Given the description of an element on the screen output the (x, y) to click on. 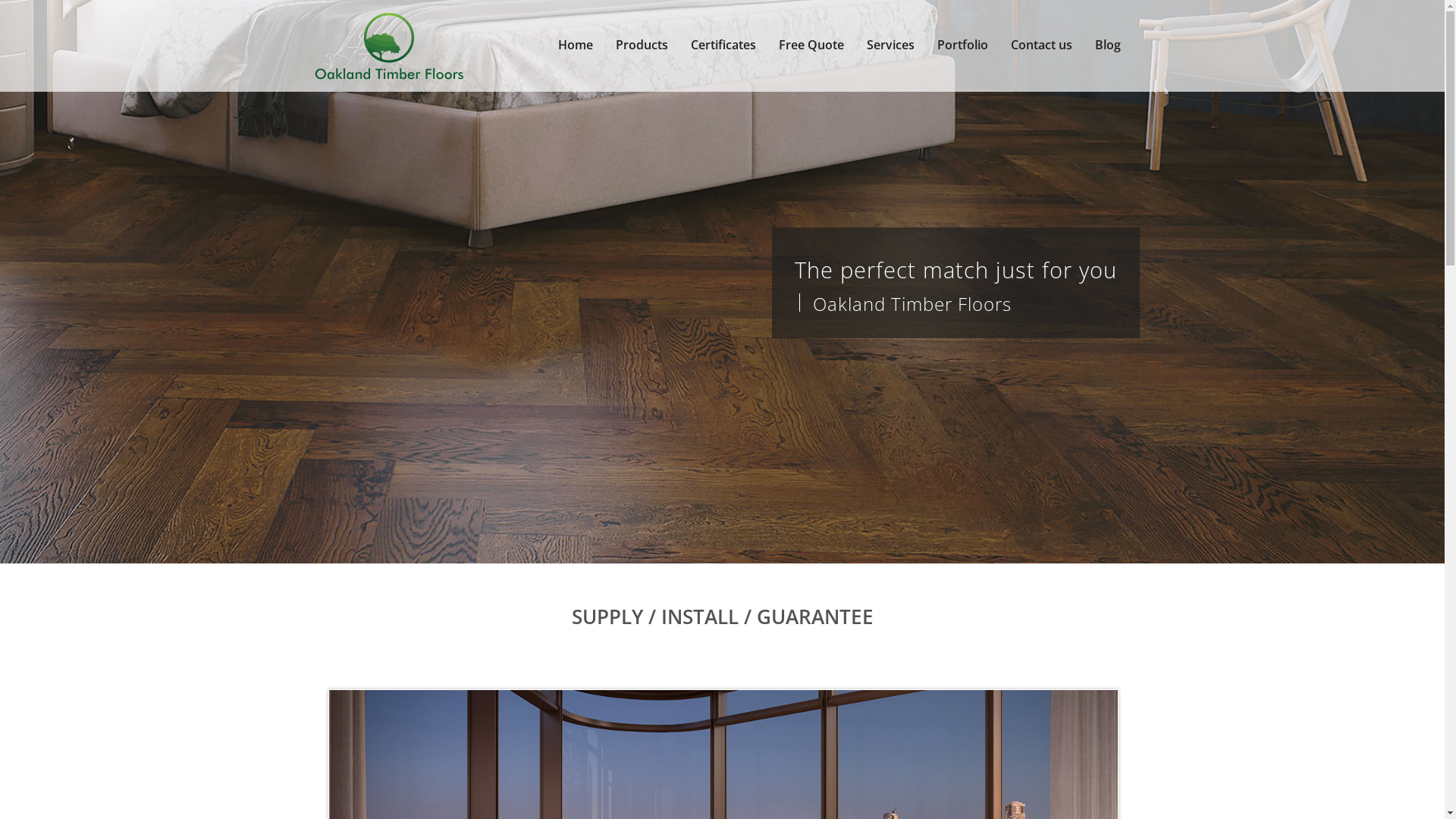
Free Quote Element type: text (811, 45)
Portfolio Element type: text (961, 45)
Home Element type: text (574, 45)
Contact us Element type: text (1041, 45)
Blog Element type: text (1106, 45)
Services Element type: text (890, 45)
Products Element type: text (640, 45)
Oakland Timber Floors Sydney Element type: hover (388, 45)
Certificates Element type: text (723, 45)
